Given the description of an element on the screen output the (x, y) to click on. 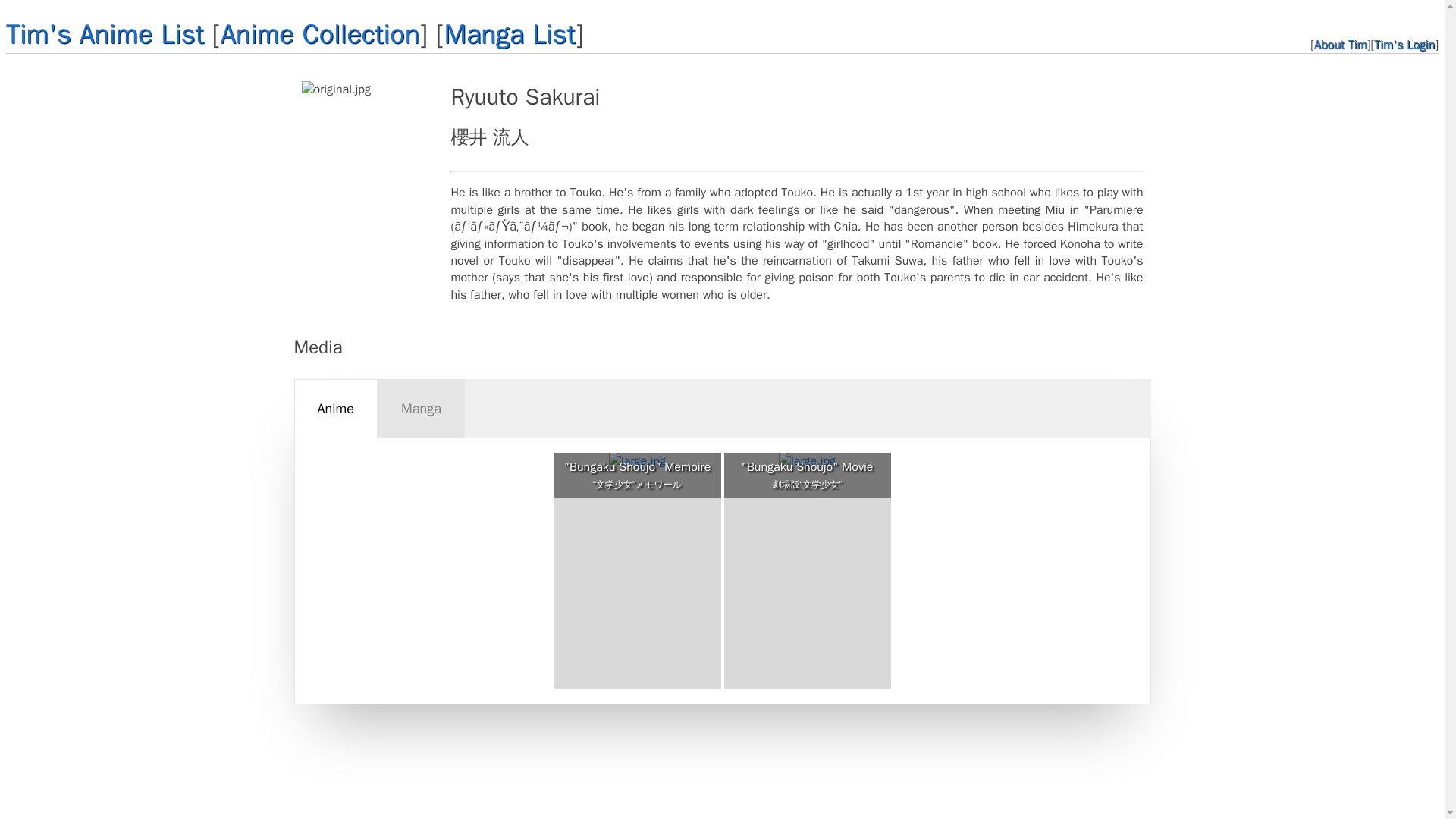
Anime Collection (320, 33)
About Tim (1340, 44)
Tim's Anime List (104, 33)
Manga List (509, 33)
